Given the description of an element on the screen output the (x, y) to click on. 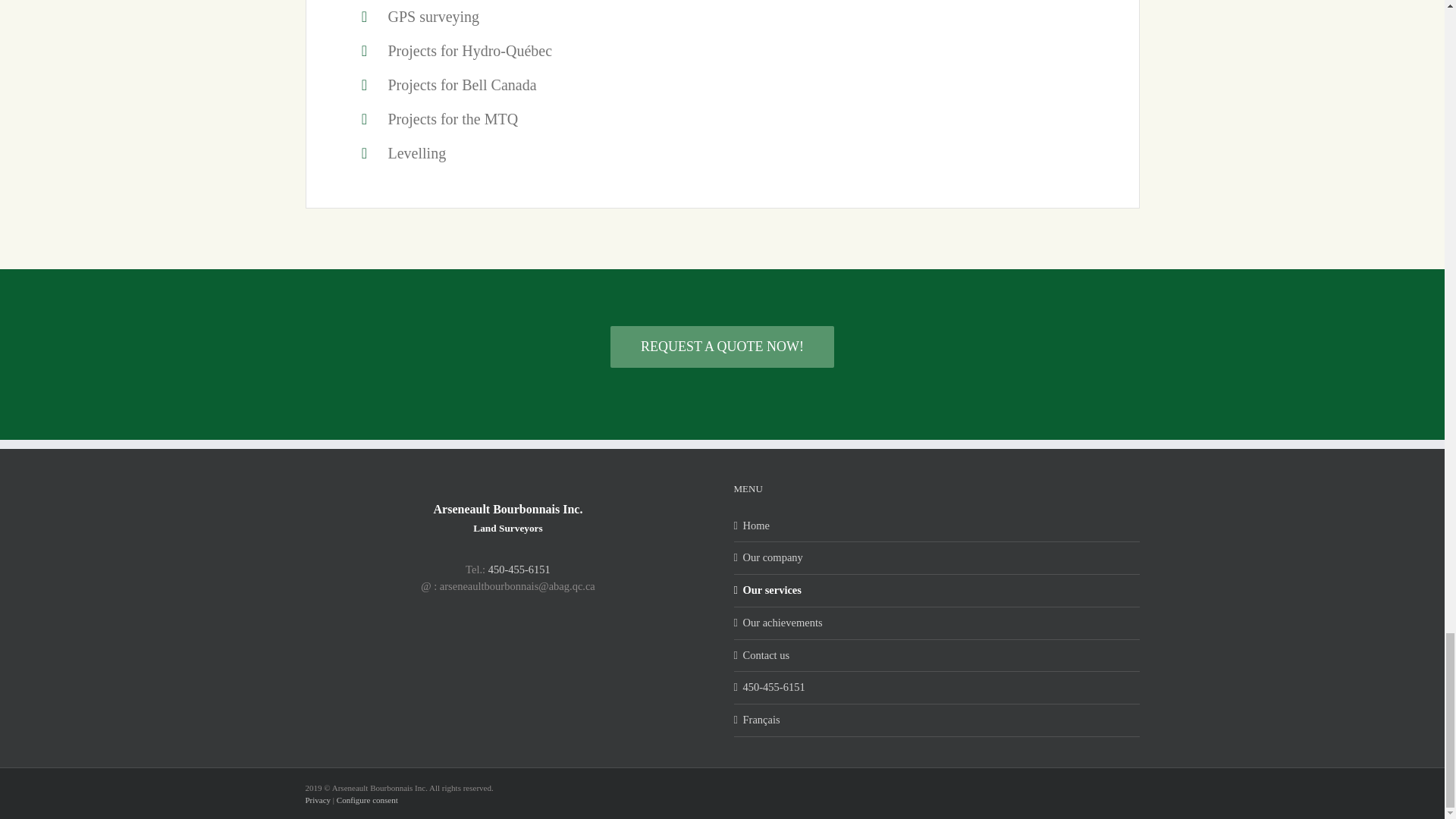
Privacy (317, 799)
450-455-6151 (518, 569)
Our company (937, 557)
Home (937, 525)
450-455-6151 (937, 687)
Configure consent (366, 799)
Contact us (937, 655)
Our services (937, 590)
Our achievements (937, 623)
REQUEST A QUOTE NOW! (722, 346)
